Given the description of an element on the screen output the (x, y) to click on. 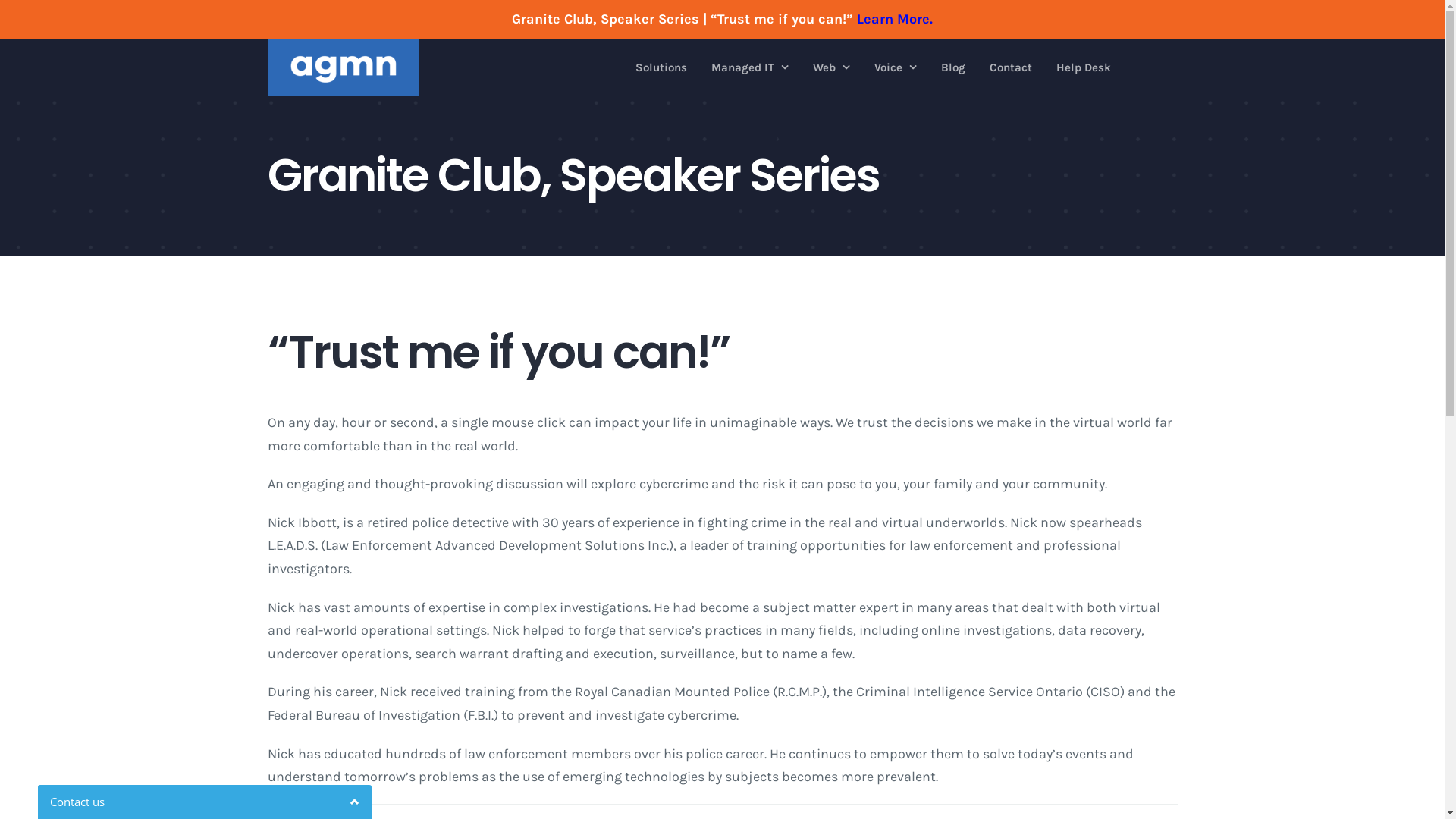
Voice Element type: text (895, 67)
Learn More. Element type: text (894, 18)
Managed IT Element type: text (749, 67)
Web Element type: text (831, 67)
Contact Element type: text (1010, 67)
Help Desk Element type: text (1083, 67)
Blog Element type: text (953, 67)
Solutions Element type: text (661, 67)
